Given the description of an element on the screen output the (x, y) to click on. 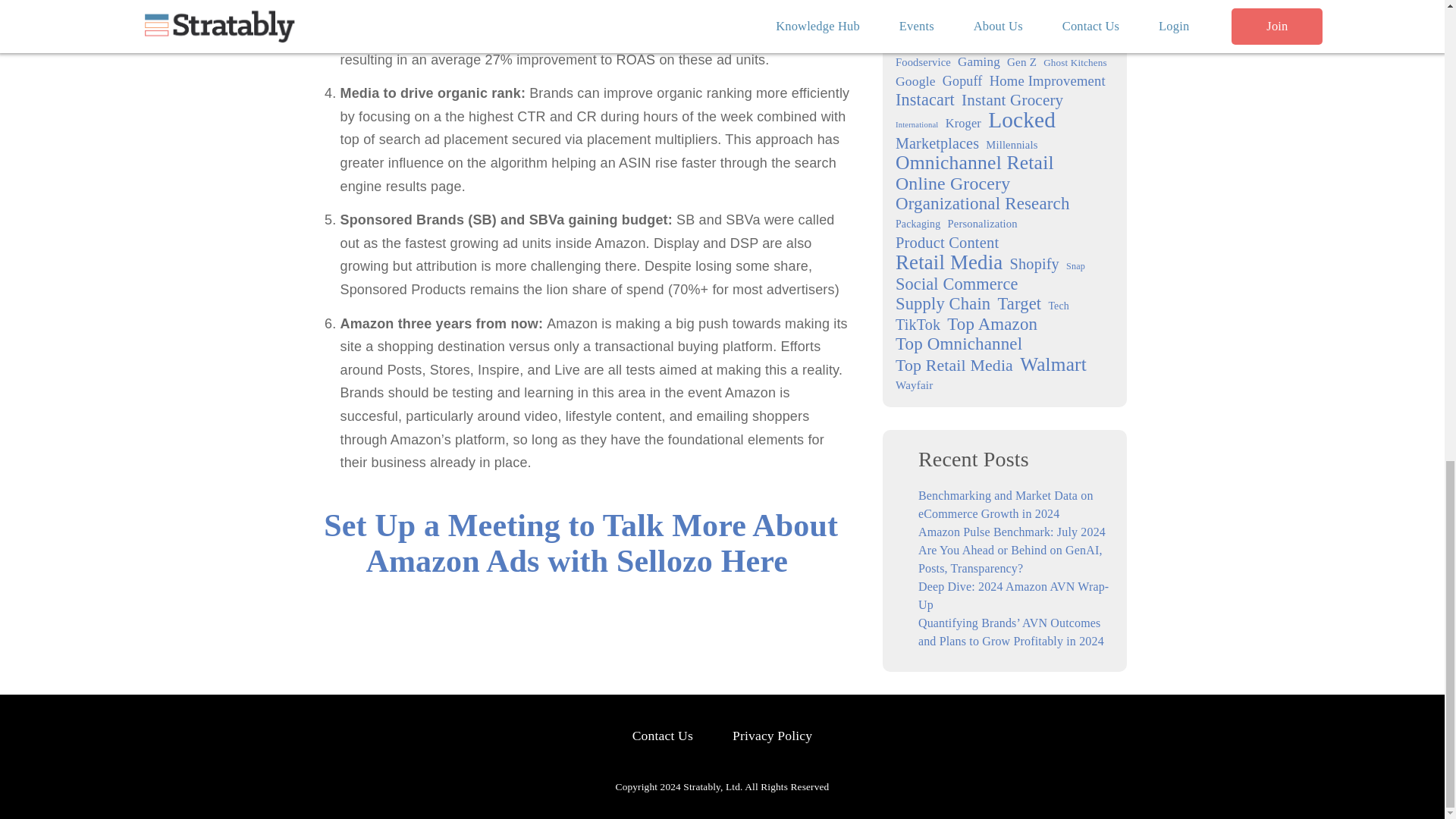
Amazon (948, 3)
Analytics (1022, 4)
Consumer (927, 22)
